Given the description of an element on the screen output the (x, y) to click on. 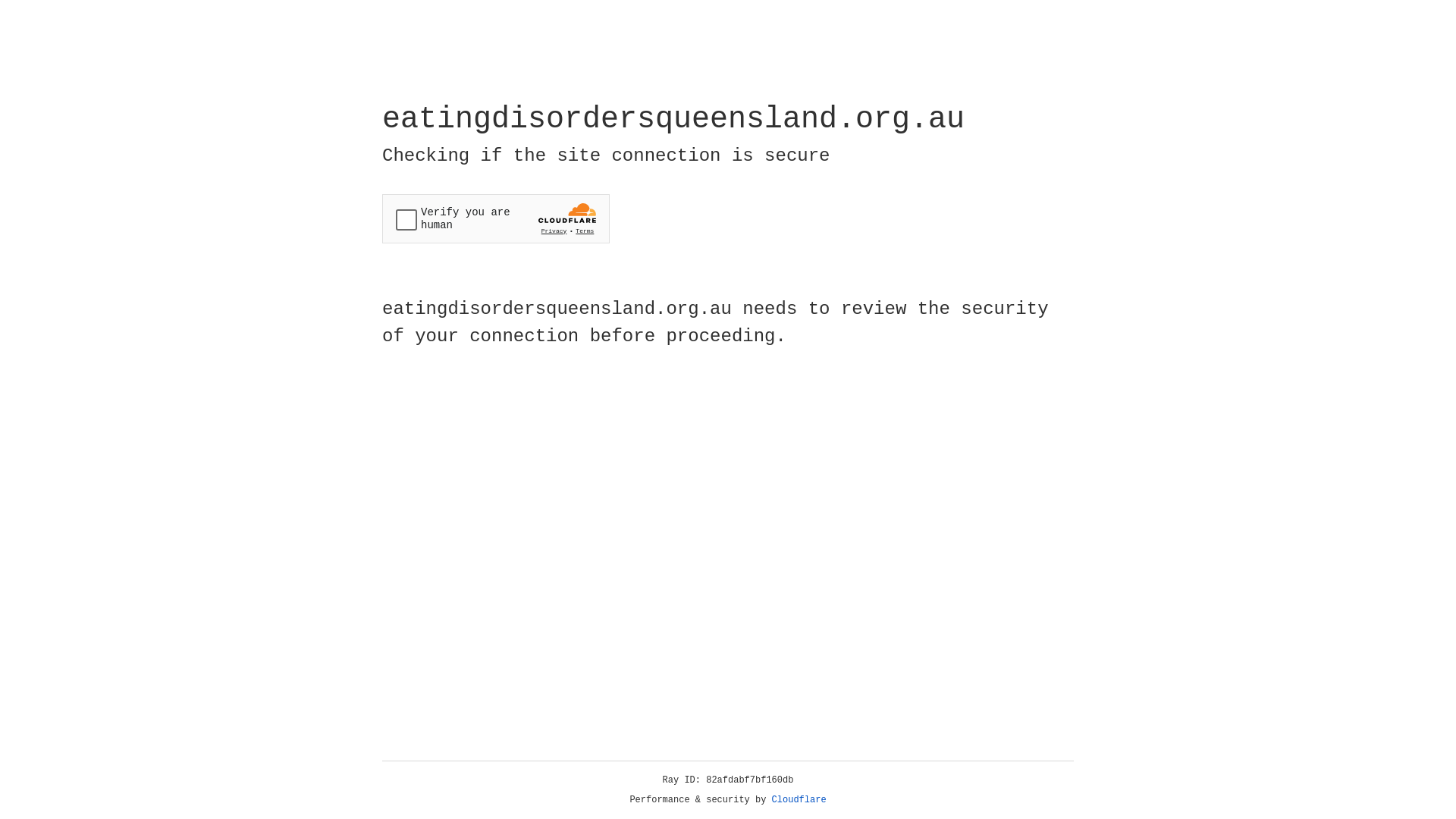
Widget containing a Cloudflare security challenge Element type: hover (495, 218)
Cloudflare Element type: text (798, 799)
